Given the description of an element on the screen output the (x, y) to click on. 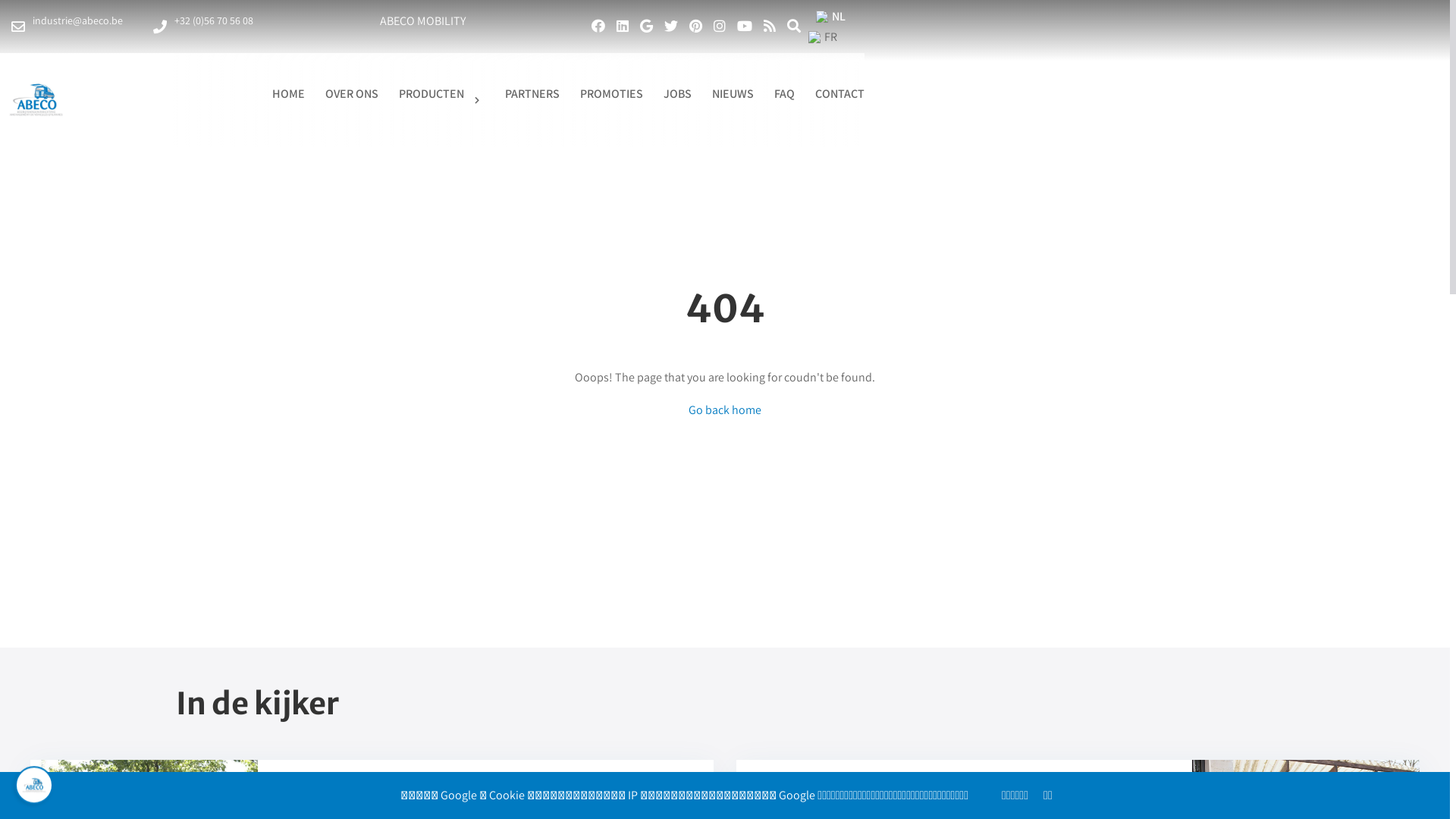
FAQ Element type: text (784, 93)
FR Element type: text (830, 36)
JOBS Element type: text (677, 93)
+32 (0)56 70 56 08 Element type: text (203, 26)
OVER ONS Element type: text (351, 93)
industrie@abeco.be Element type: text (66, 26)
Go back home Element type: text (724, 409)
PRODUCTEN Element type: text (441, 99)
PROMOTIES Element type: text (611, 93)
ABECO MOBILITY Element type: text (421, 20)
HOME Element type: text (288, 93)
NL Element type: text (830, 16)
CONTACT Element type: text (839, 93)
NIEUWS Element type: text (732, 93)
PARTNERS Element type: text (532, 93)
